Given the description of an element on the screen output the (x, y) to click on. 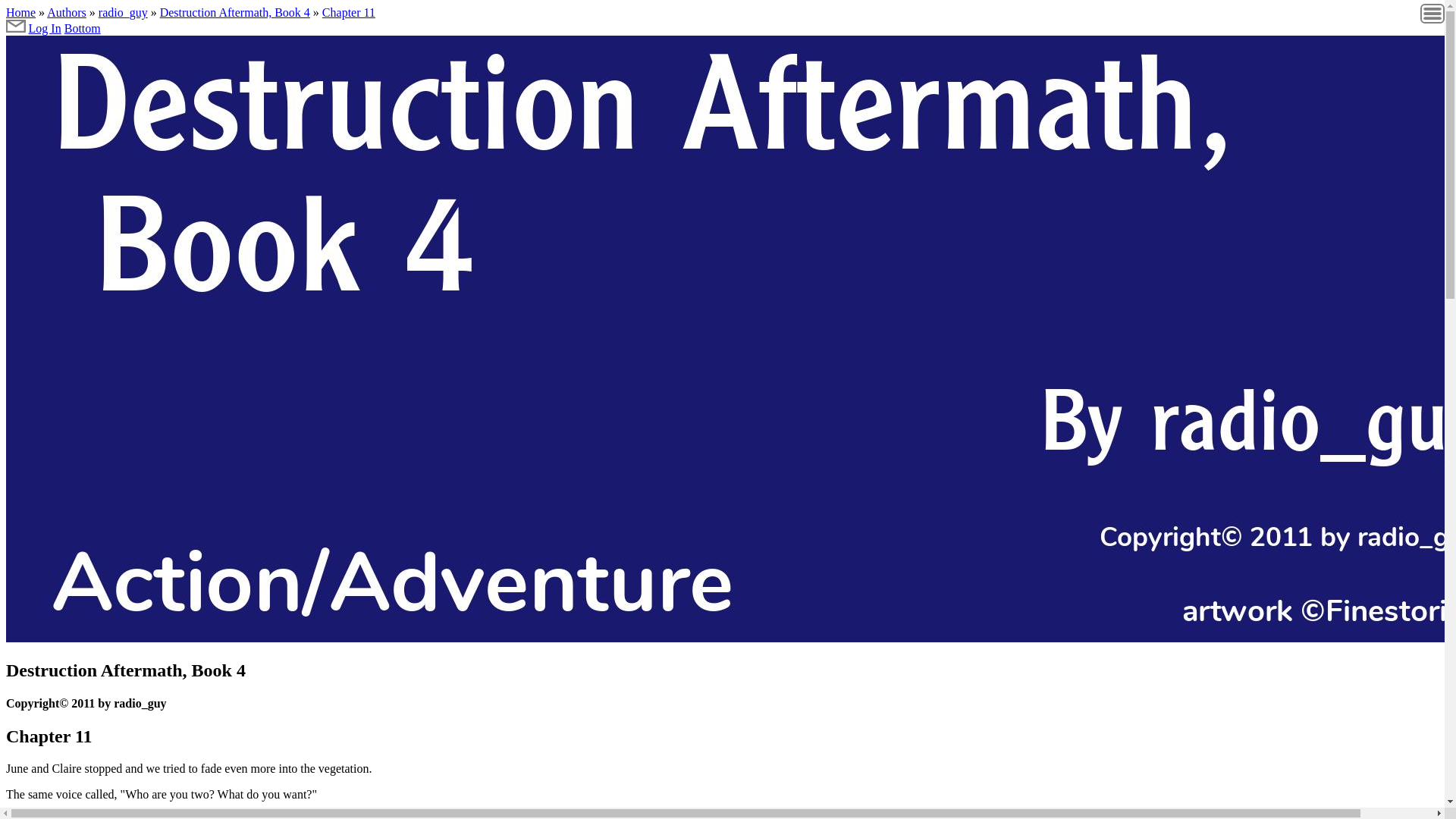
Bottom (82, 28)
Chapter 11 (348, 11)
Private Messages (15, 27)
Home (19, 11)
Log In (45, 28)
Scrolling, Settings and Navigation (1432, 21)
Authors (65, 11)
Destruction Aftermath, Book 4 (235, 11)
